Given the description of an element on the screen output the (x, y) to click on. 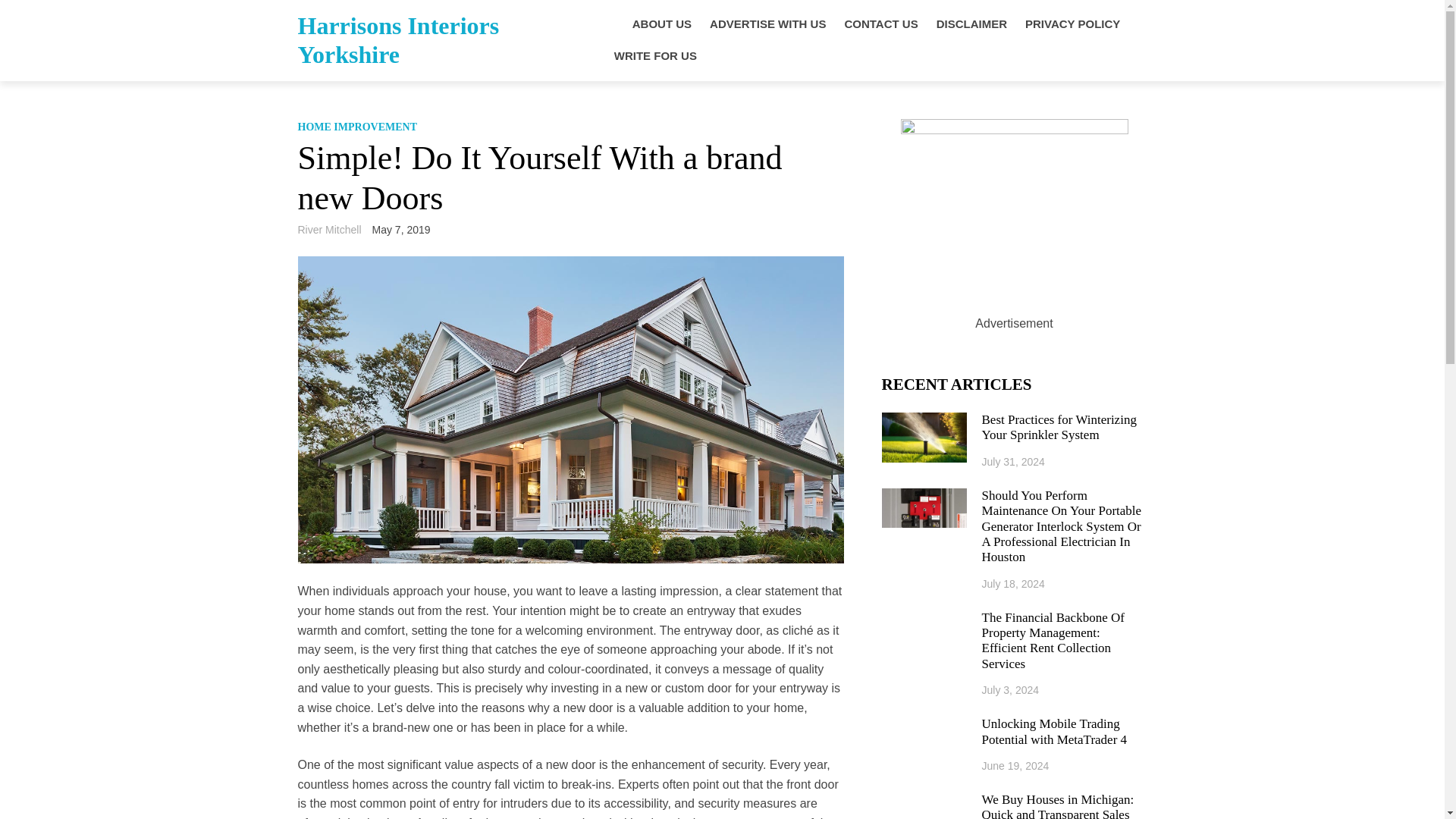
Harrisons Interiors Yorkshire (398, 39)
HOME IMPROVEMENT (356, 126)
ADVERTISE WITH US (767, 24)
DISCLAIMER (971, 24)
WRITE FOR US (655, 56)
June 19, 2024 (1015, 766)
July 3, 2024 (1010, 689)
Best Practices for Winterizing Your Sprinkler System (1064, 427)
We Buy Houses in Michigan: Quick and Transparent Sales (1064, 805)
